Given the description of an element on the screen output the (x, y) to click on. 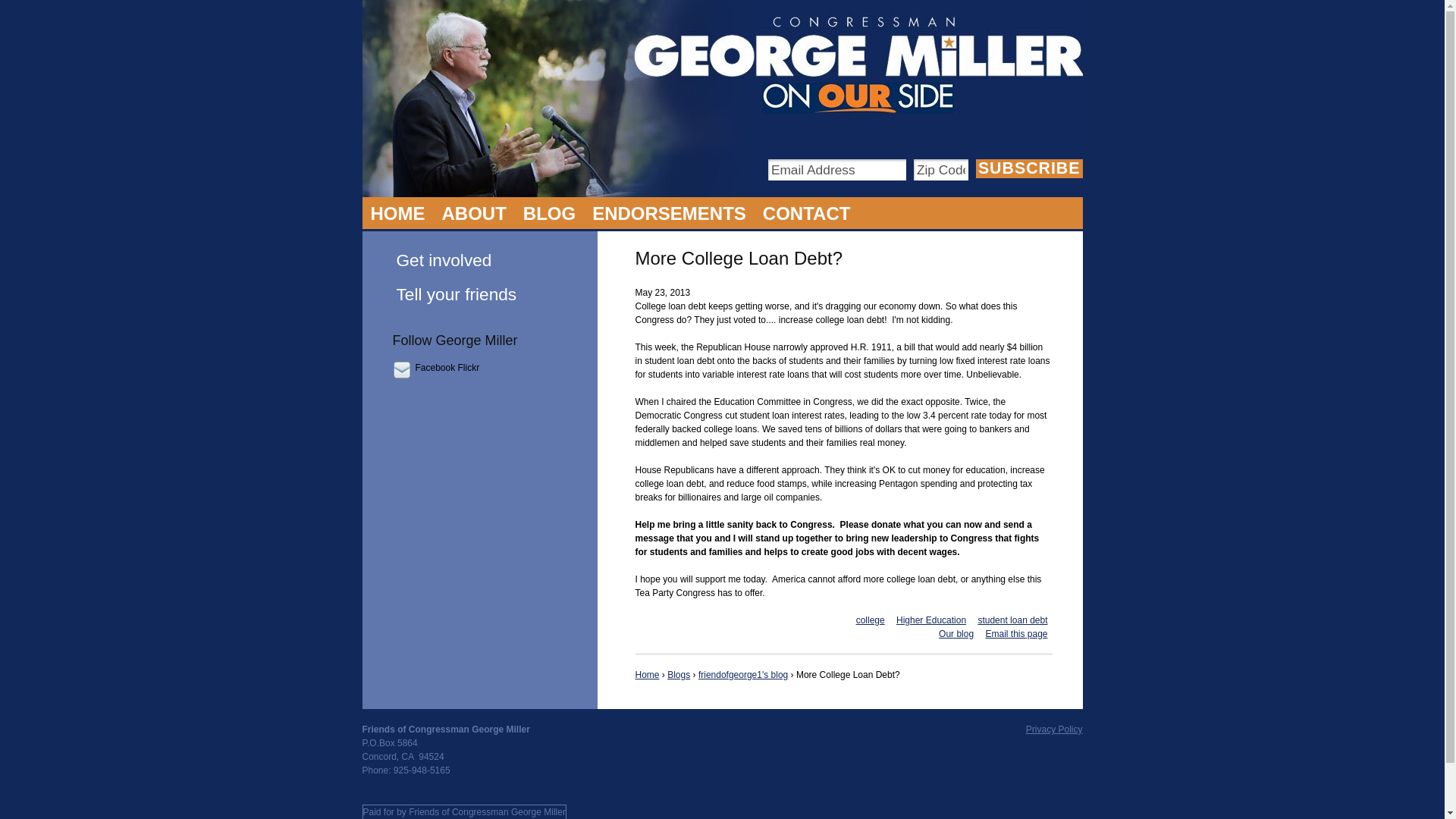
Endorsements for Congressman George Miller 2012 (668, 213)
Our blog (956, 633)
Email this page (1015, 633)
George Miller (474, 213)
CONTACT (806, 213)
Read friendofgeorge1's latest blog entries. (956, 633)
Zip Code (941, 169)
Home (646, 674)
ABOUT (474, 213)
Forward this page to a friend (1015, 633)
